Given the description of an element on the screen output the (x, y) to click on. 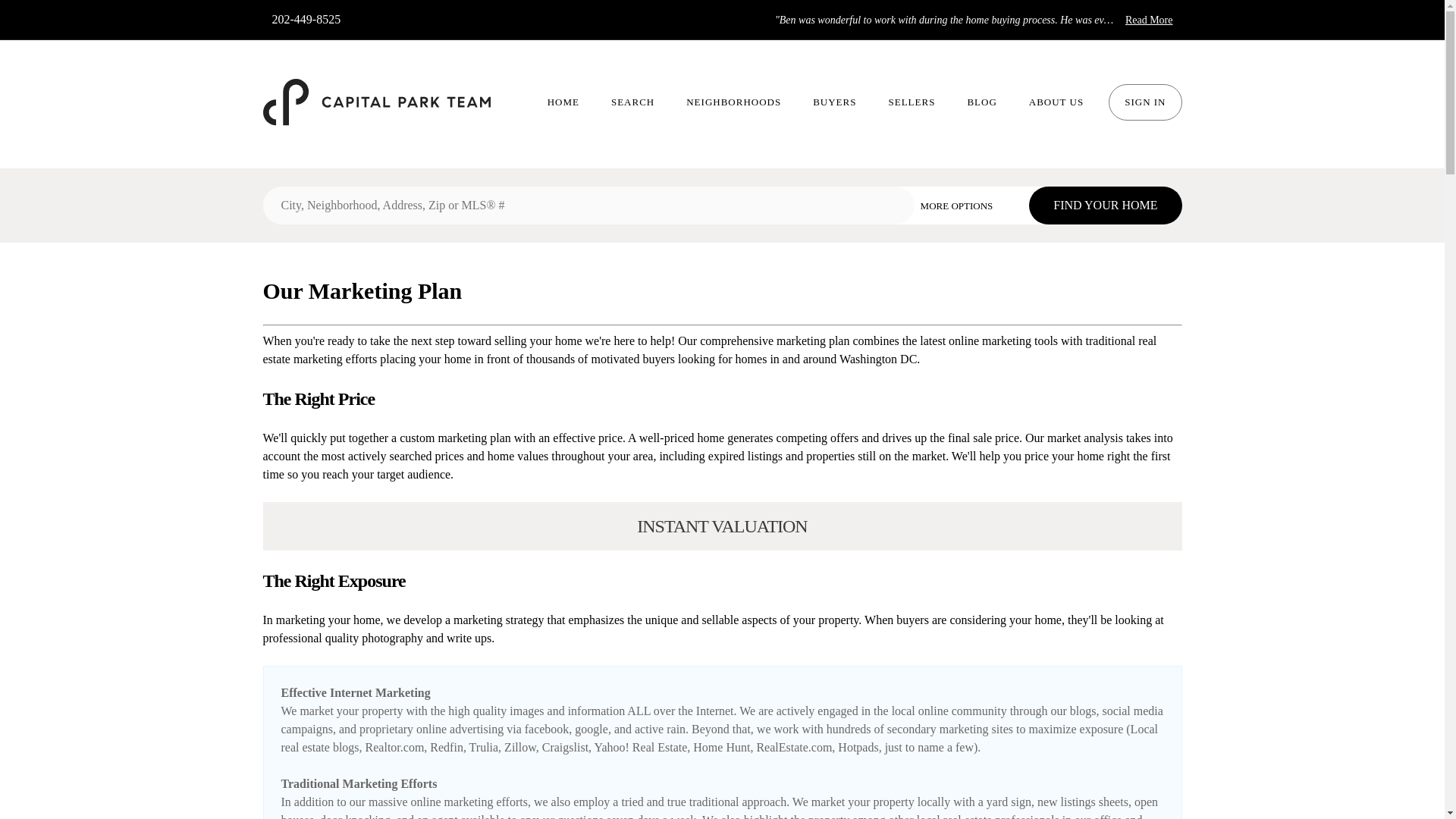
Read More (1149, 19)
BLOG (980, 102)
SEARCH (632, 102)
SIGN IN (1144, 102)
SELLERS (911, 102)
ABOUT US (1056, 102)
MORE OPTIONS (968, 204)
FIND YOUR HOME (1104, 205)
BUYERS (834, 102)
INSTANT VALUATION (721, 526)
